Given the description of an element on the screen output the (x, y) to click on. 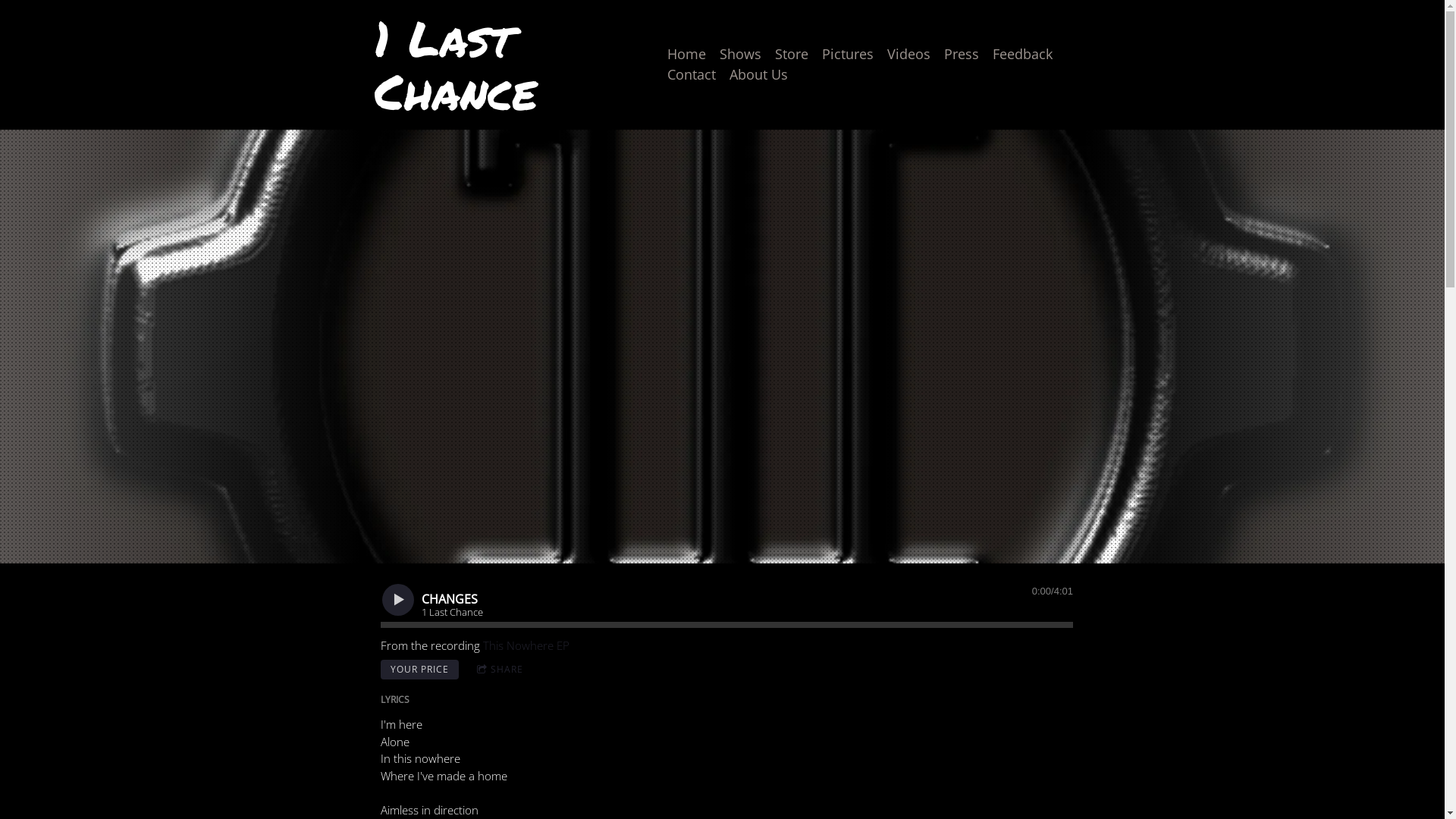
Play Element type: hover (398, 599)
1 Last Chance Element type: text (500, 102)
Feedback Element type: text (1022, 53)
SHARE Element type: text (499, 668)
Home Element type: text (686, 53)
Contact Element type: text (691, 74)
Videos Element type: text (908, 53)
Pictures Element type: text (847, 53)
YOUR PRICE Element type: text (419, 669)
Store Element type: text (791, 53)
Press Element type: text (961, 53)
This Nowhere EP Element type: text (526, 644)
Shows Element type: text (740, 53)
About Us Element type: text (758, 74)
